Given the description of an element on the screen output the (x, y) to click on. 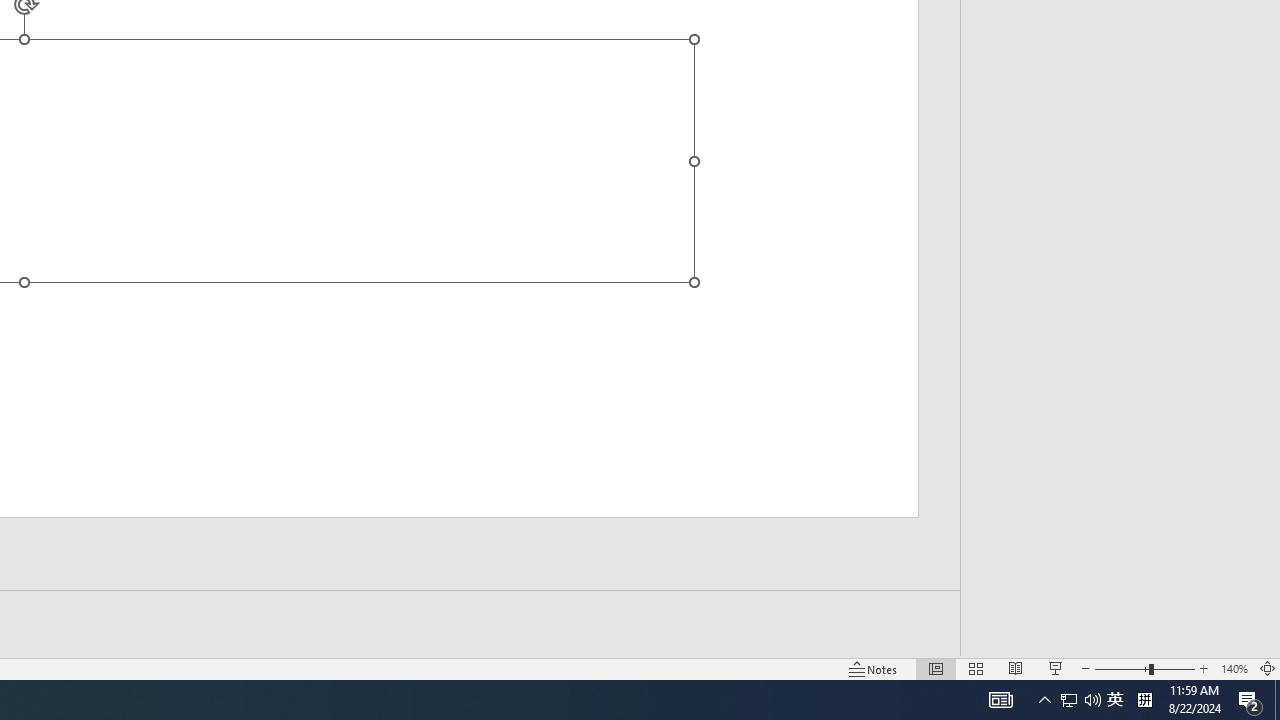
Zoom 140% (1234, 668)
